Given the description of an element on the screen output the (x, y) to click on. 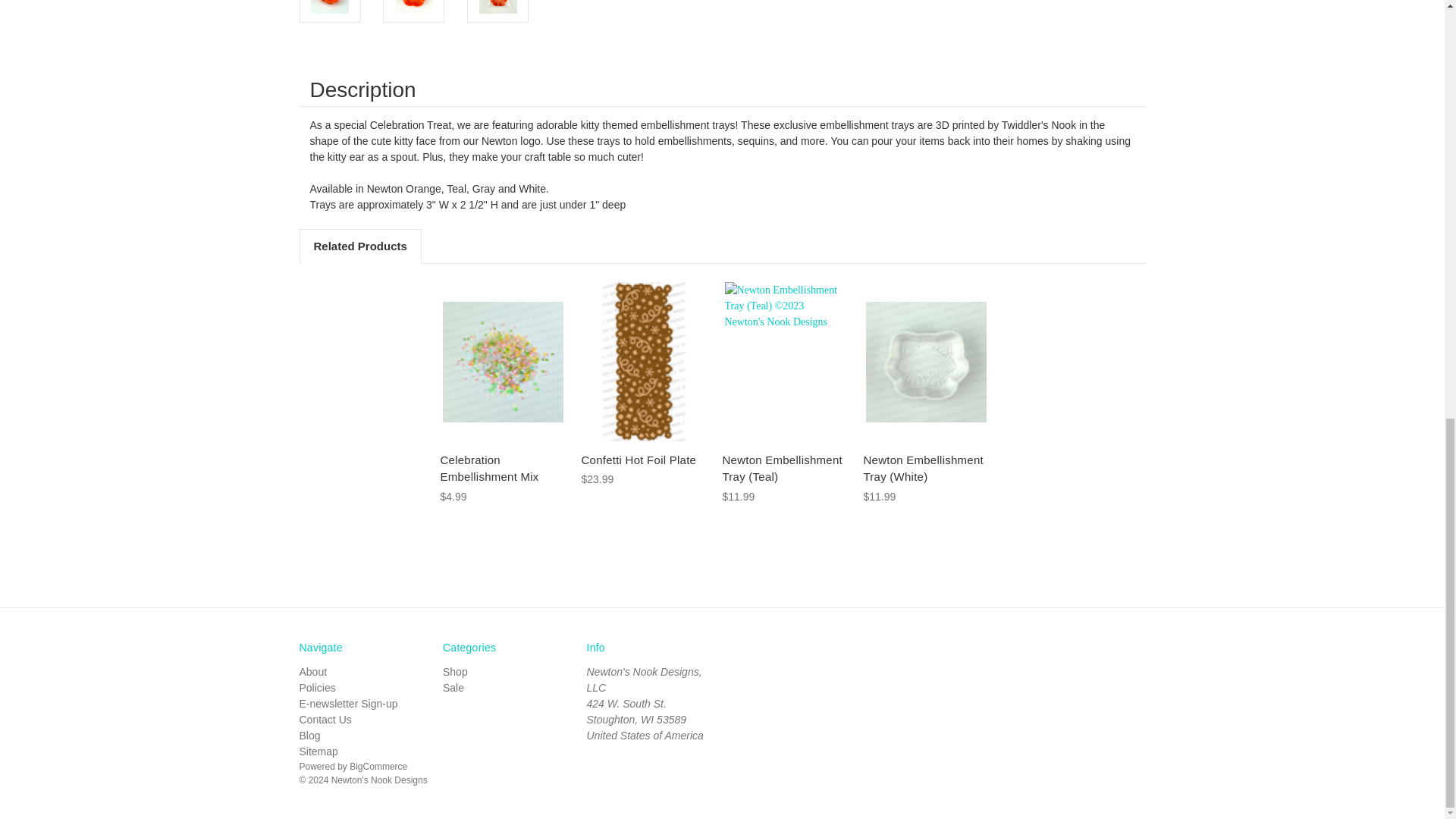
American Express (752, 658)
Visa (934, 658)
Discover (797, 658)
Mastercard (844, 658)
PayPal (889, 658)
